Given the description of an element on the screen output the (x, y) to click on. 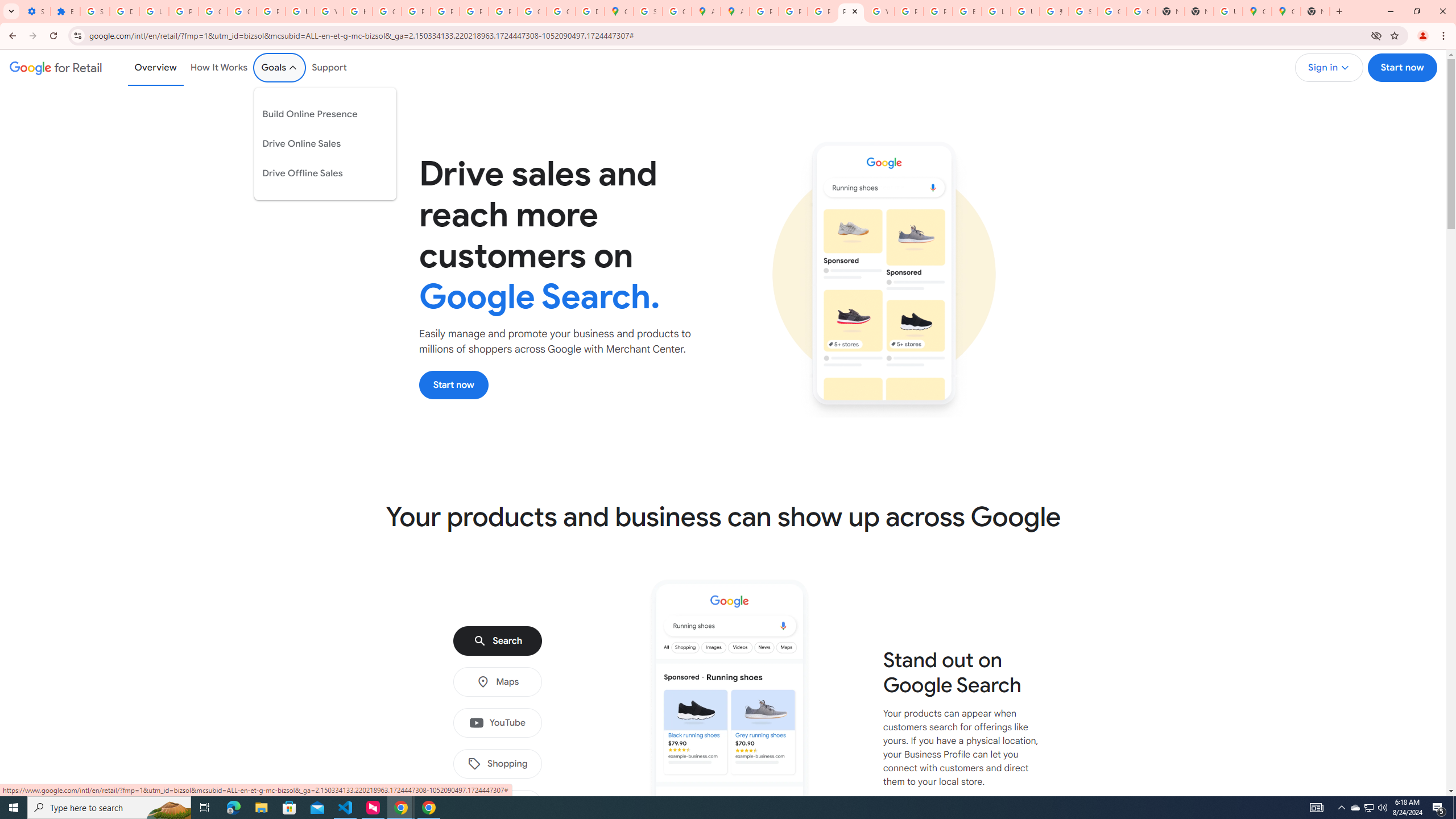
Google Maps (619, 11)
Maps (496, 681)
Policy Accountability and Transparency - Transparency Center (763, 11)
YouTube (496, 722)
https://scholar.google.com/ (357, 11)
Drive Online Sales (317, 143)
Google Maps (1286, 11)
YouTube (879, 11)
